Given the description of an element on the screen output the (x, y) to click on. 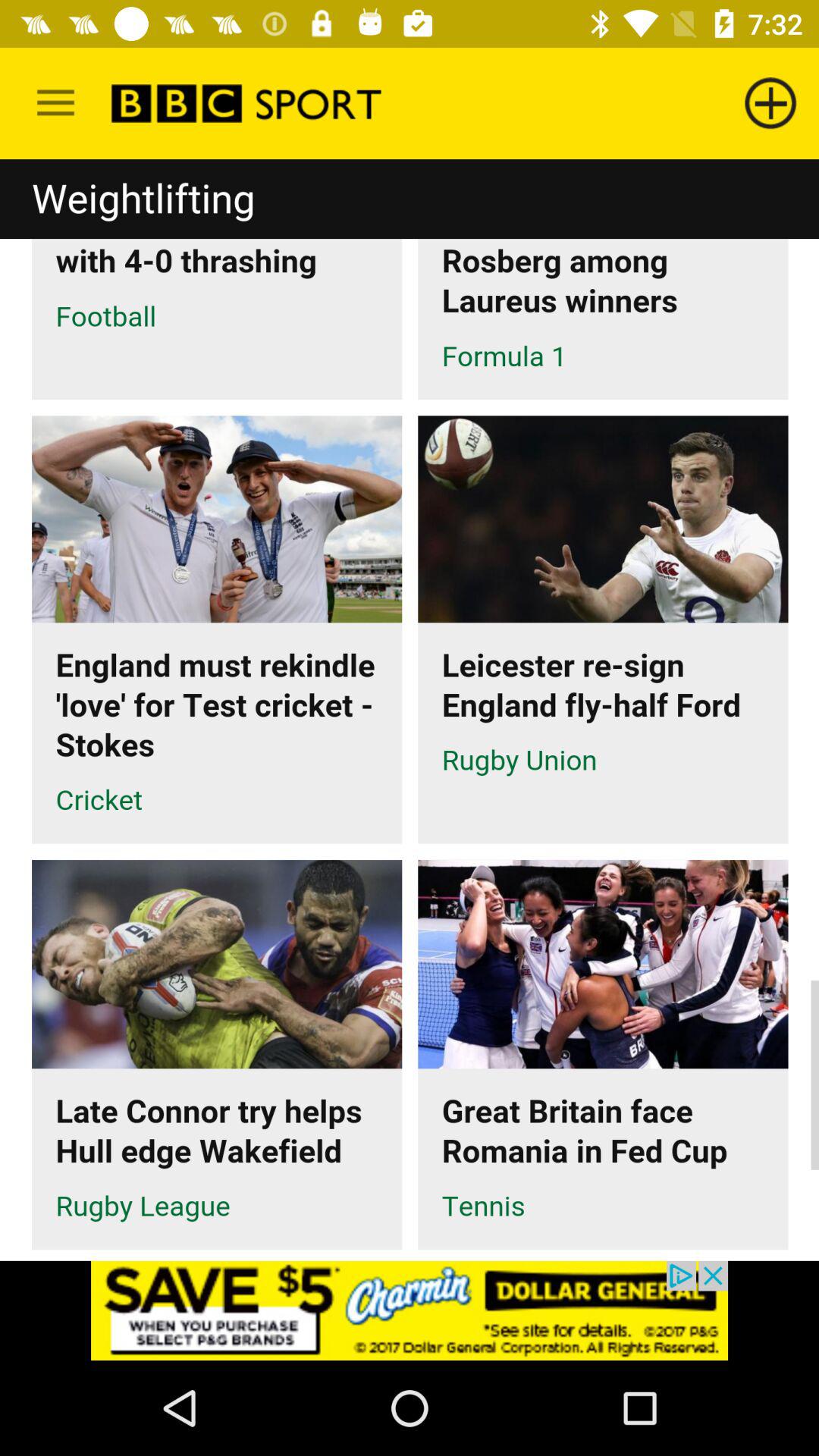
advertisement (409, 1310)
